Given the description of an element on the screen output the (x, y) to click on. 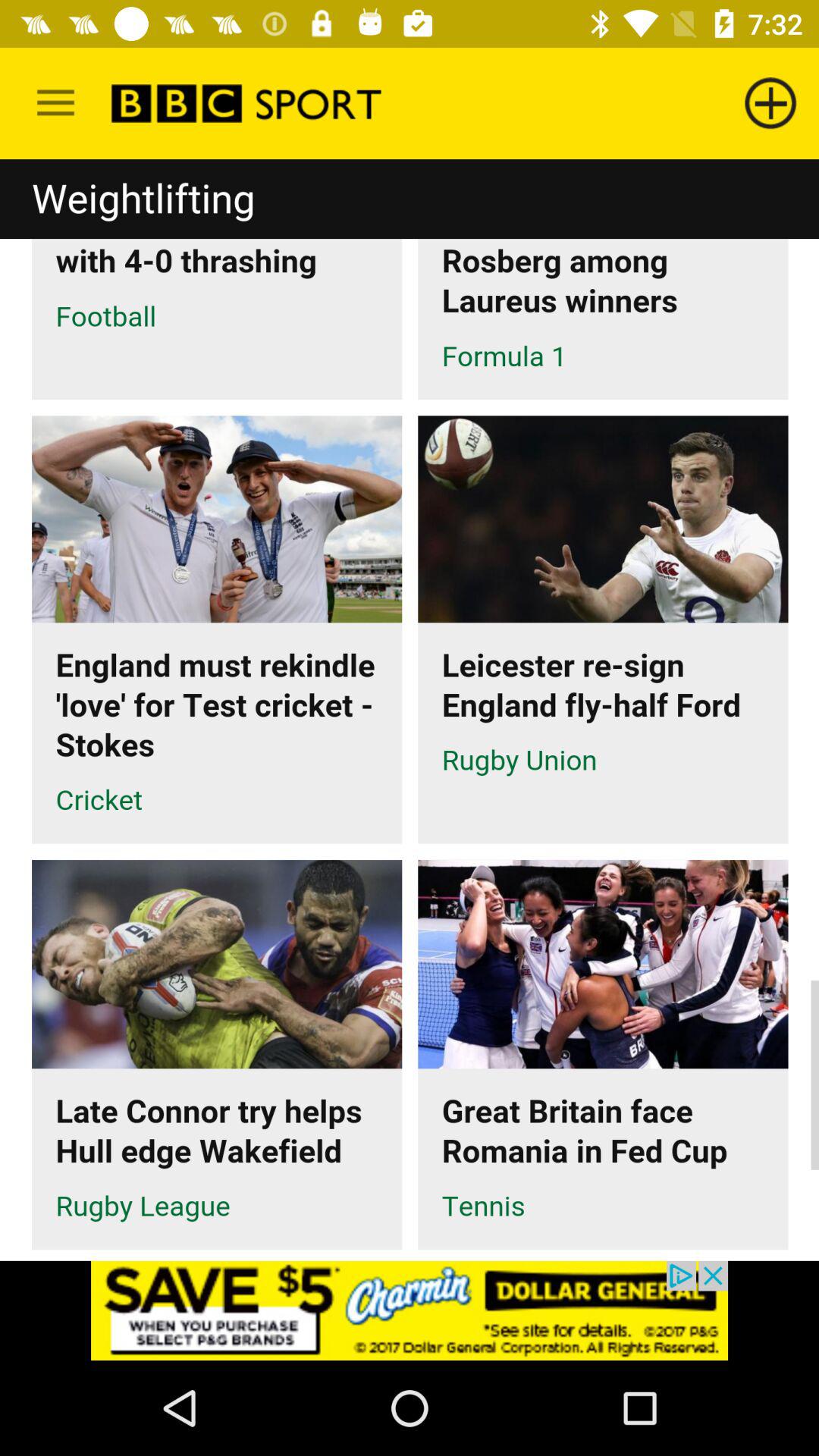
advertisement (409, 1310)
